Given the description of an element on the screen output the (x, y) to click on. 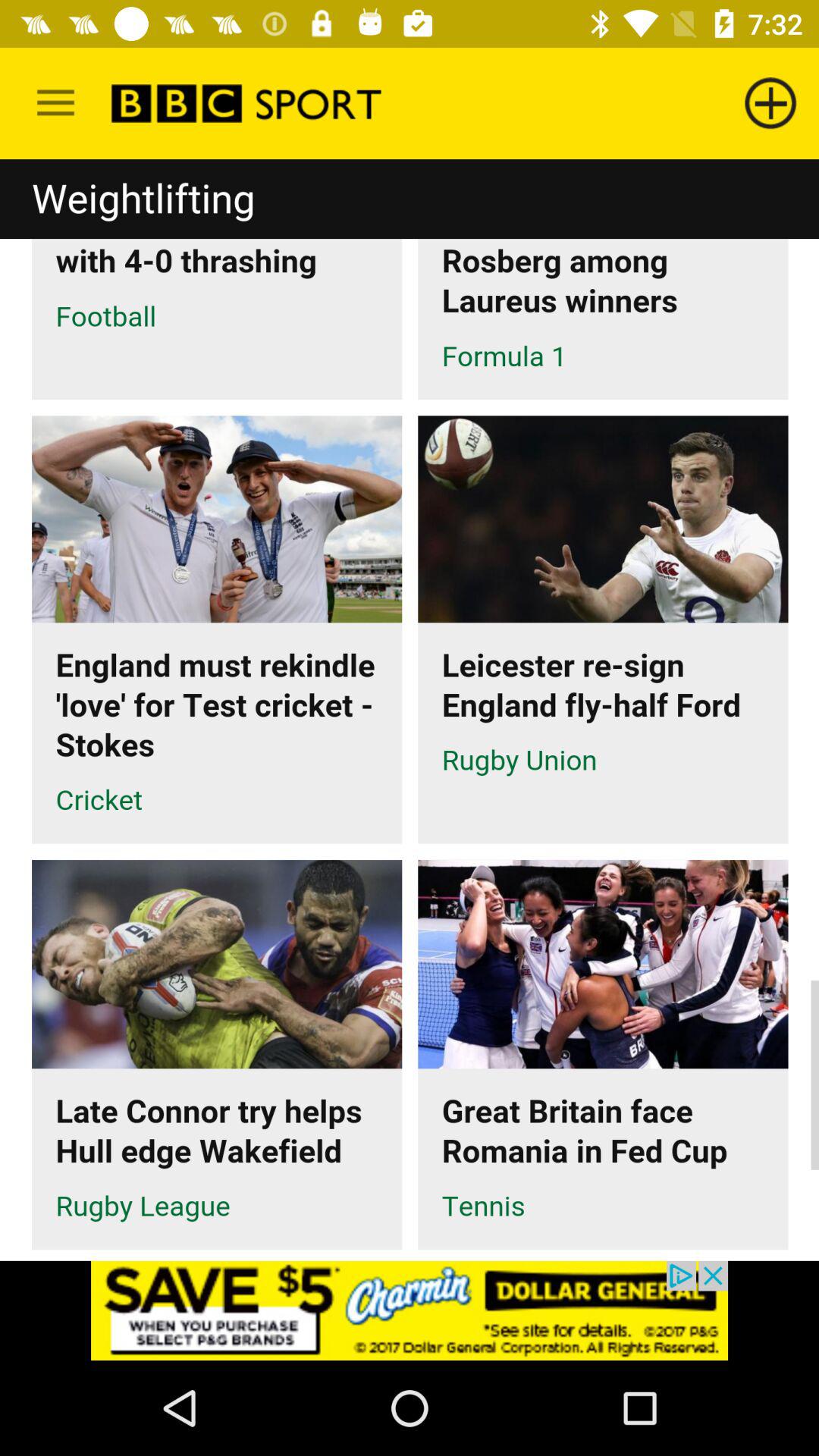
advertisement (409, 1310)
